Given the description of an element on the screen output the (x, y) to click on. 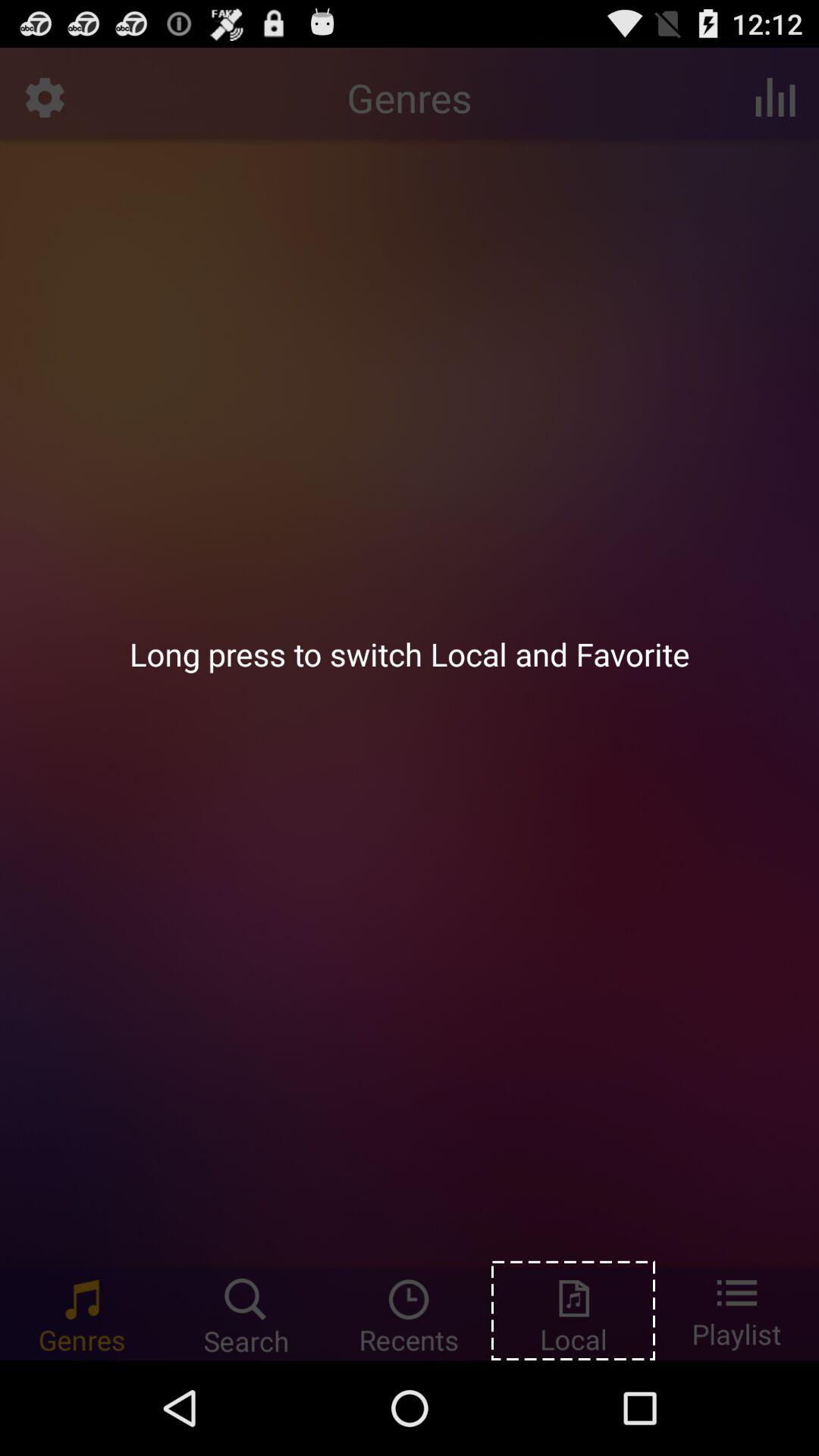
tap the item to the right of the genres item (775, 96)
